Given the description of an element on the screen output the (x, y) to click on. 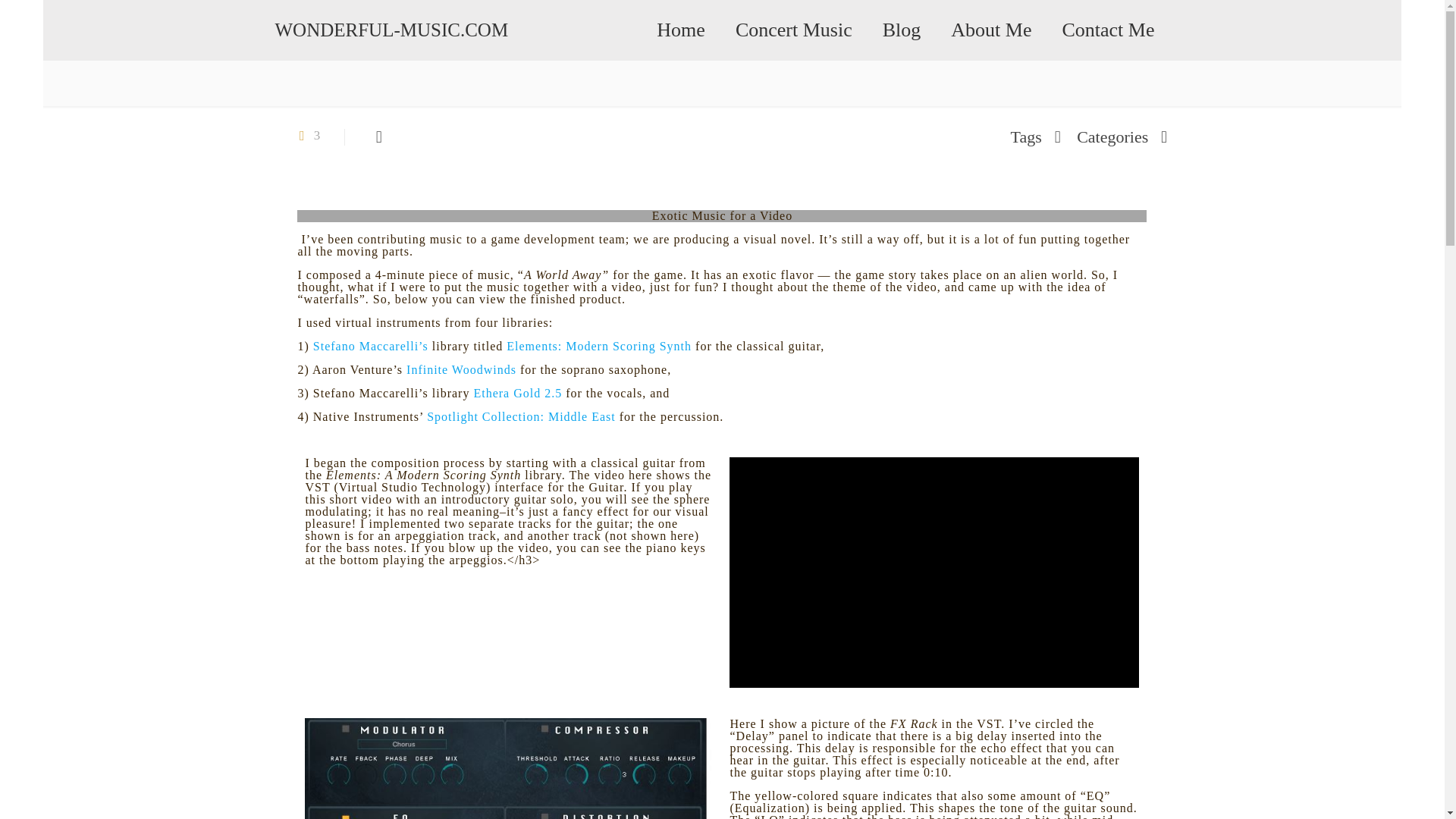
Contact Me (1107, 30)
Spotlight Collection: Middle East (520, 416)
Concert Music (793, 30)
vimeo Video Player (933, 572)
About Me (991, 30)
Elements: Modern Scoring Synth (598, 345)
3 (306, 134)
Blog (901, 30)
Home (681, 30)
Ethera Gold 2.5 (517, 392)
Infinite Woodwinds (461, 369)
